Given the description of an element on the screen output the (x, y) to click on. 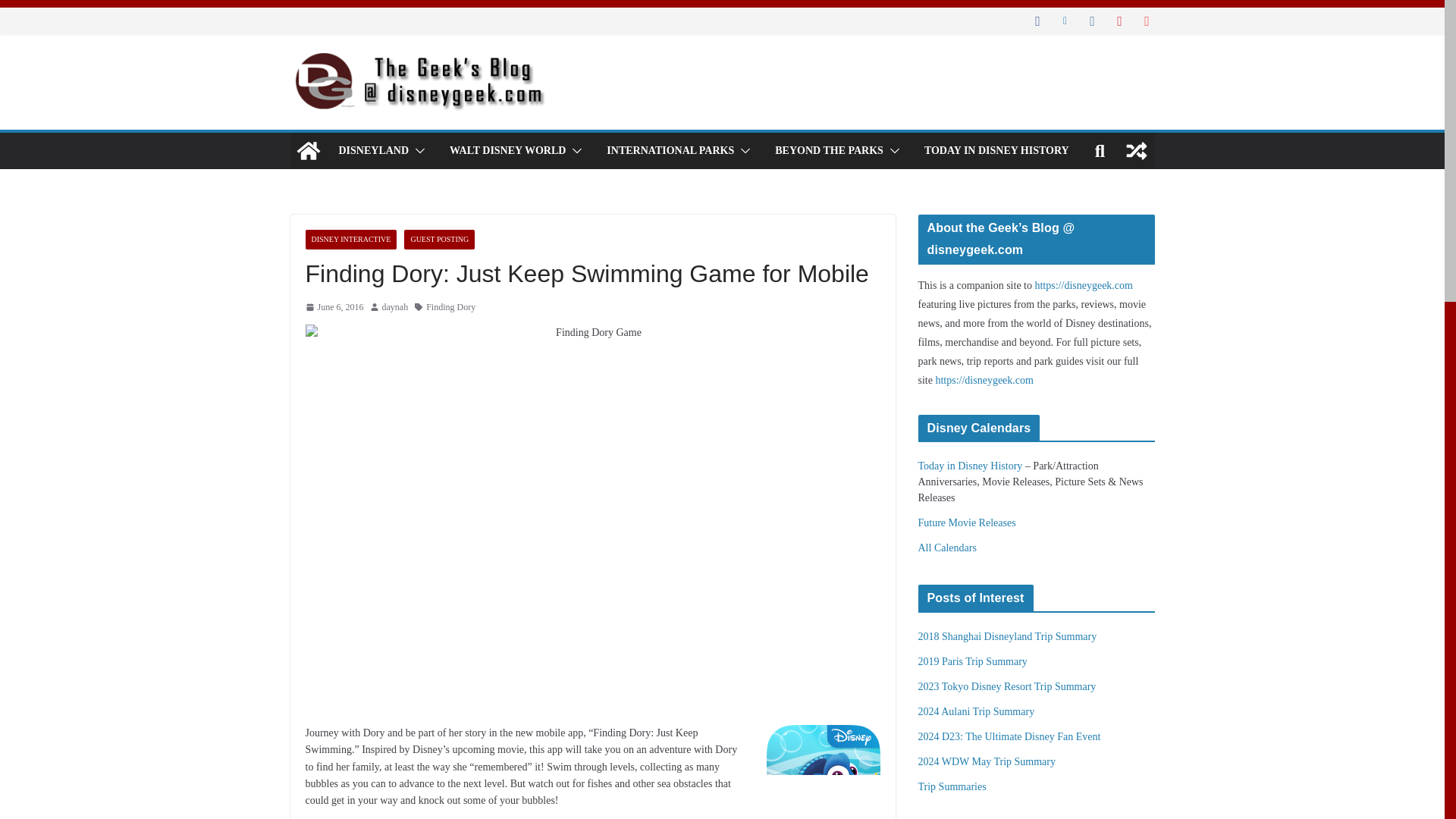
View a random post (1136, 150)
daynah (395, 307)
WALT DISNEY WORLD (507, 150)
INTERNATIONAL PARKS (670, 150)
DISNEYLAND (373, 150)
5:14 pm (333, 307)
